Given the description of an element on the screen output the (x, y) to click on. 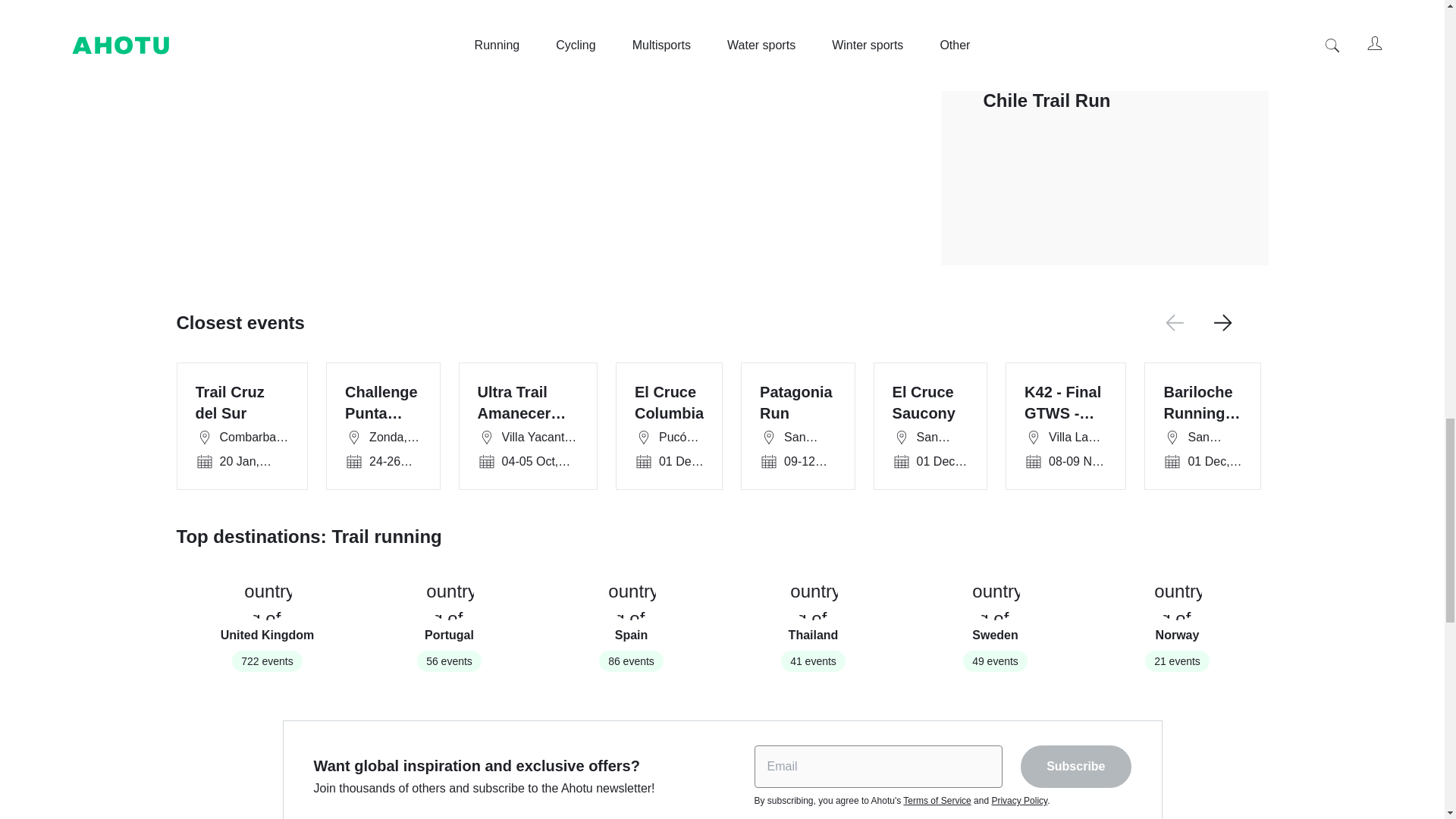
Subscribe (631, 621)
Terms of Service (1075, 766)
map-frame (936, 800)
Privacy Policy (1177, 621)
